Given the description of an element on the screen output the (x, y) to click on. 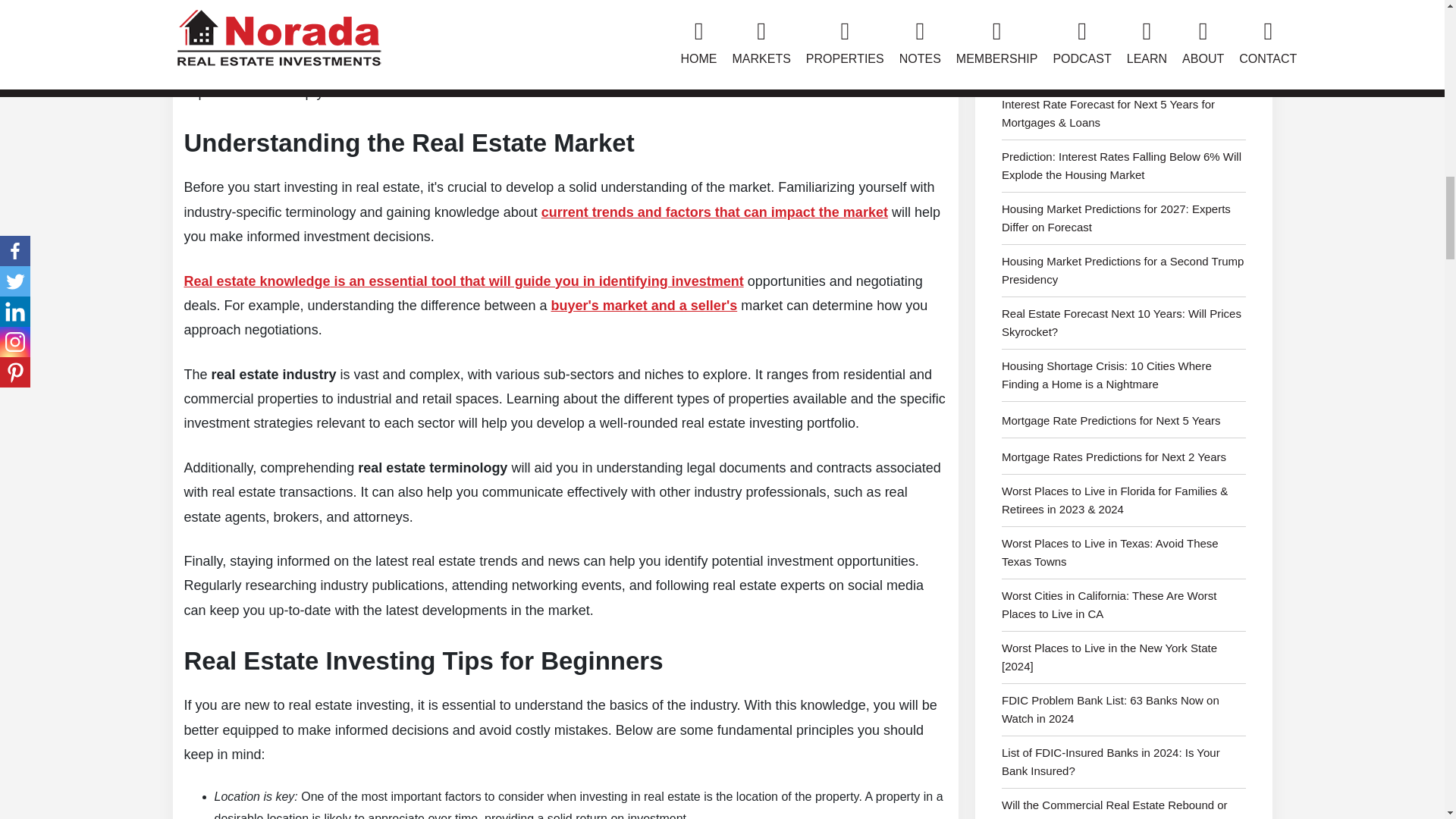
Worst Places to Live in Texas: Avoid These Texas Towns (1123, 556)
Mortgage Rate Predictions for Next 5 Years (1123, 424)
Mortgage Rates Predictions for Next 2 Years (1123, 461)
Real Estate Forecast Next 10 Years: Will Prices Skyrocket? (1123, 326)
Housing Market Predictions for a Second Trump Presidency (1123, 274)
